Given the description of an element on the screen output the (x, y) to click on. 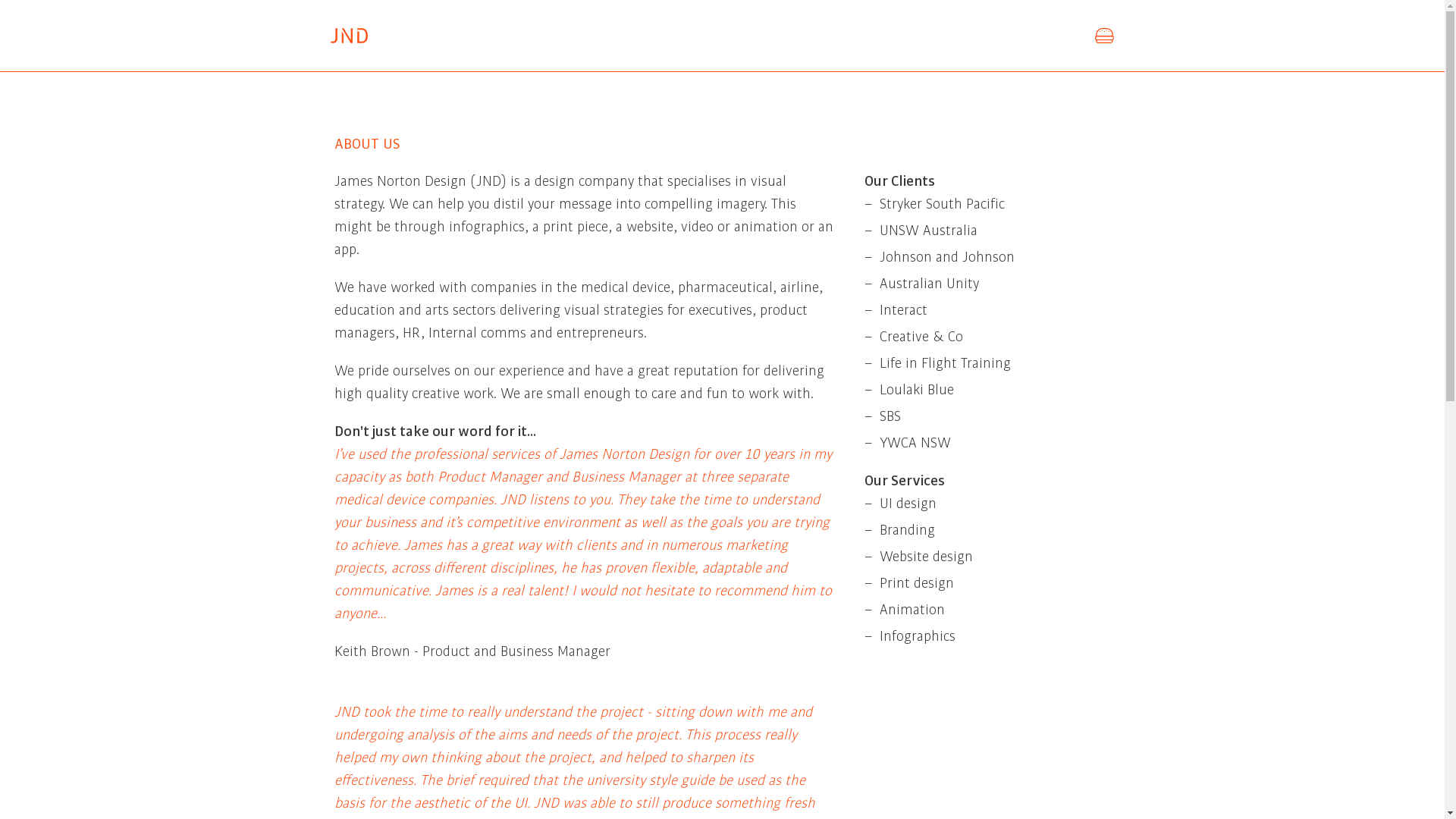
James Norton Design Element type: text (349, 35)
